Given the description of an element on the screen output the (x, y) to click on. 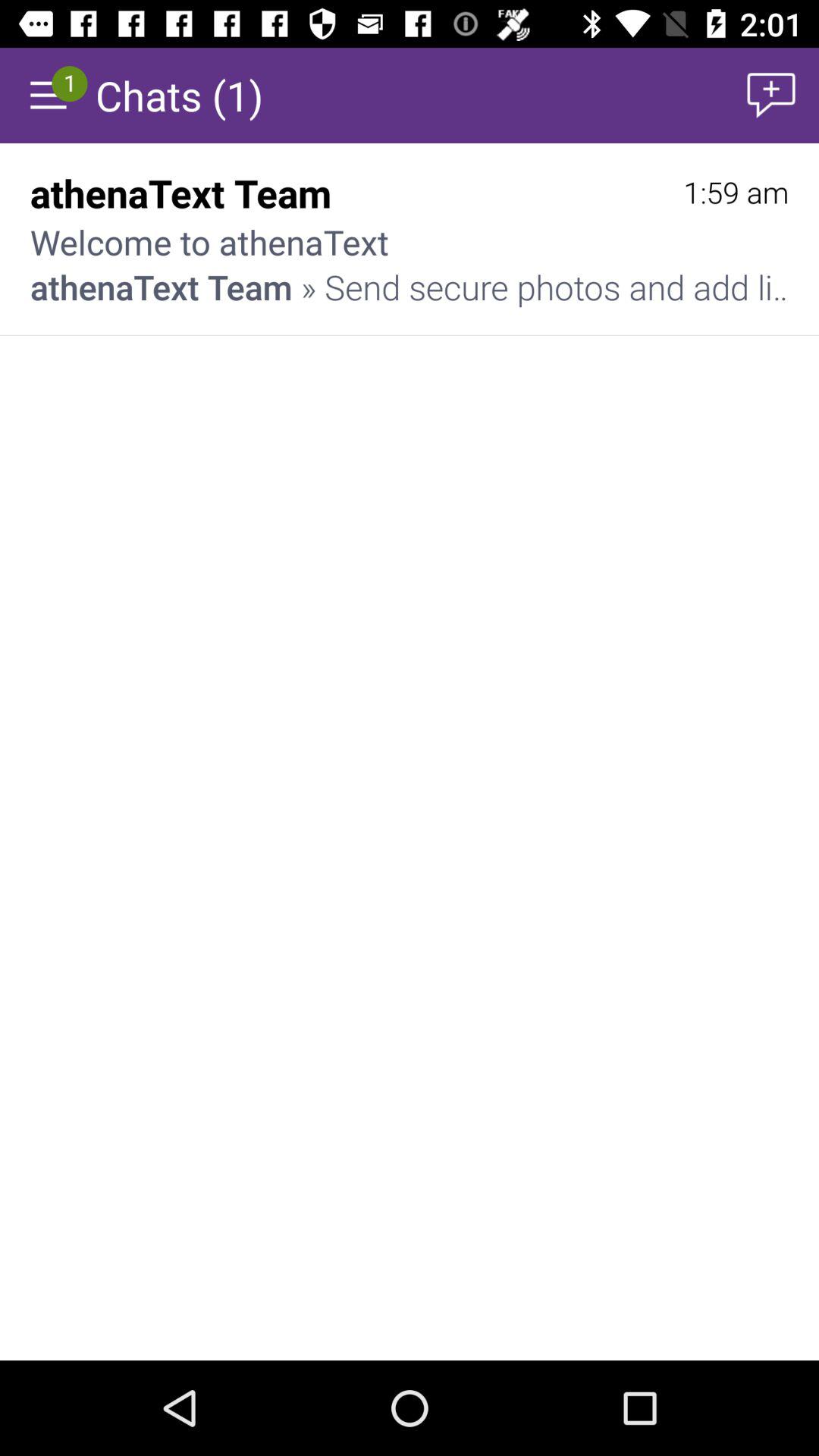
launch item to the right of the chats (1) item (771, 95)
